Given the description of an element on the screen output the (x, y) to click on. 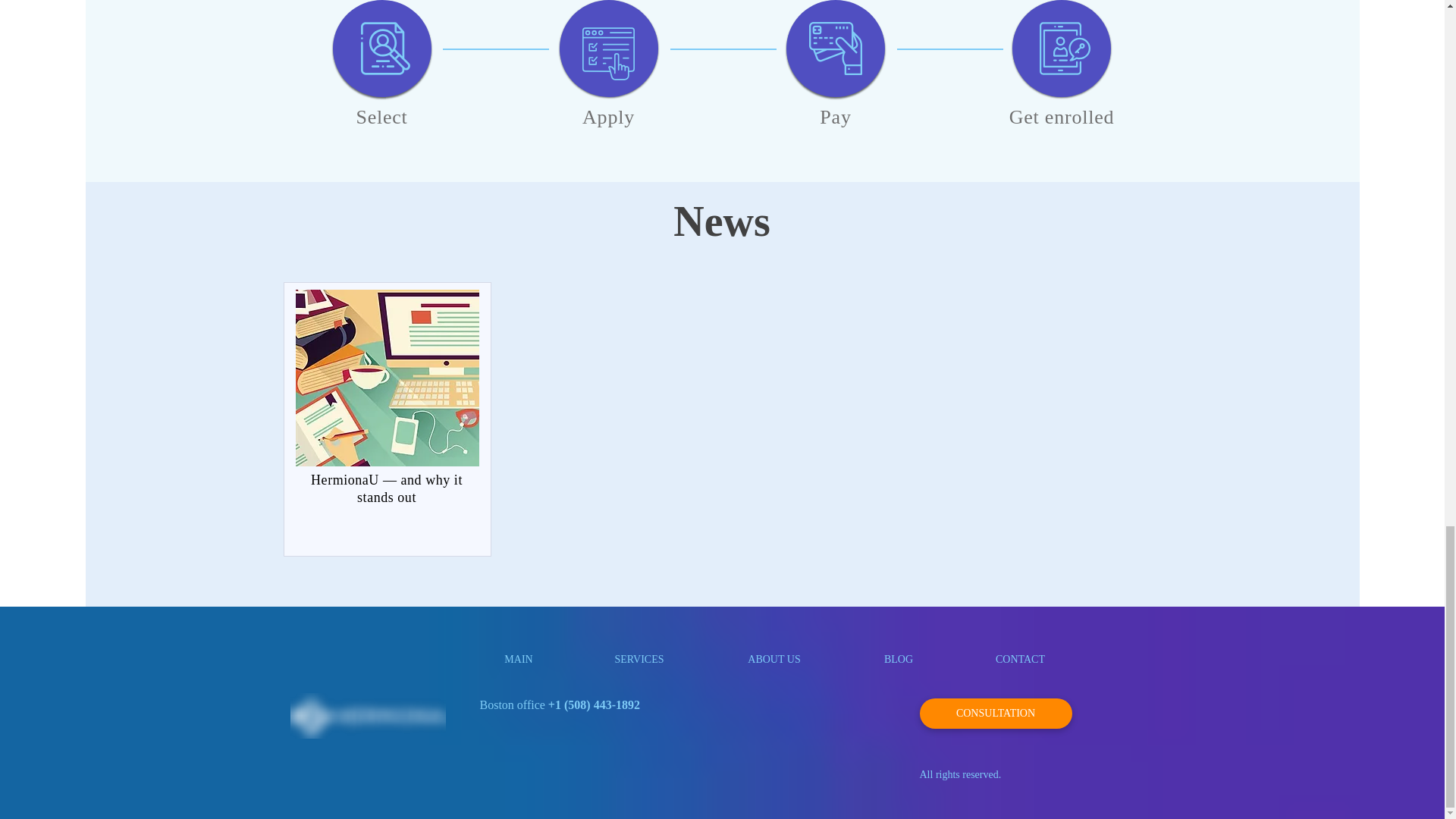
MAIN (518, 659)
ABOUT US (773, 659)
SERVICES (639, 659)
